Given the description of an element on the screen output the (x, y) to click on. 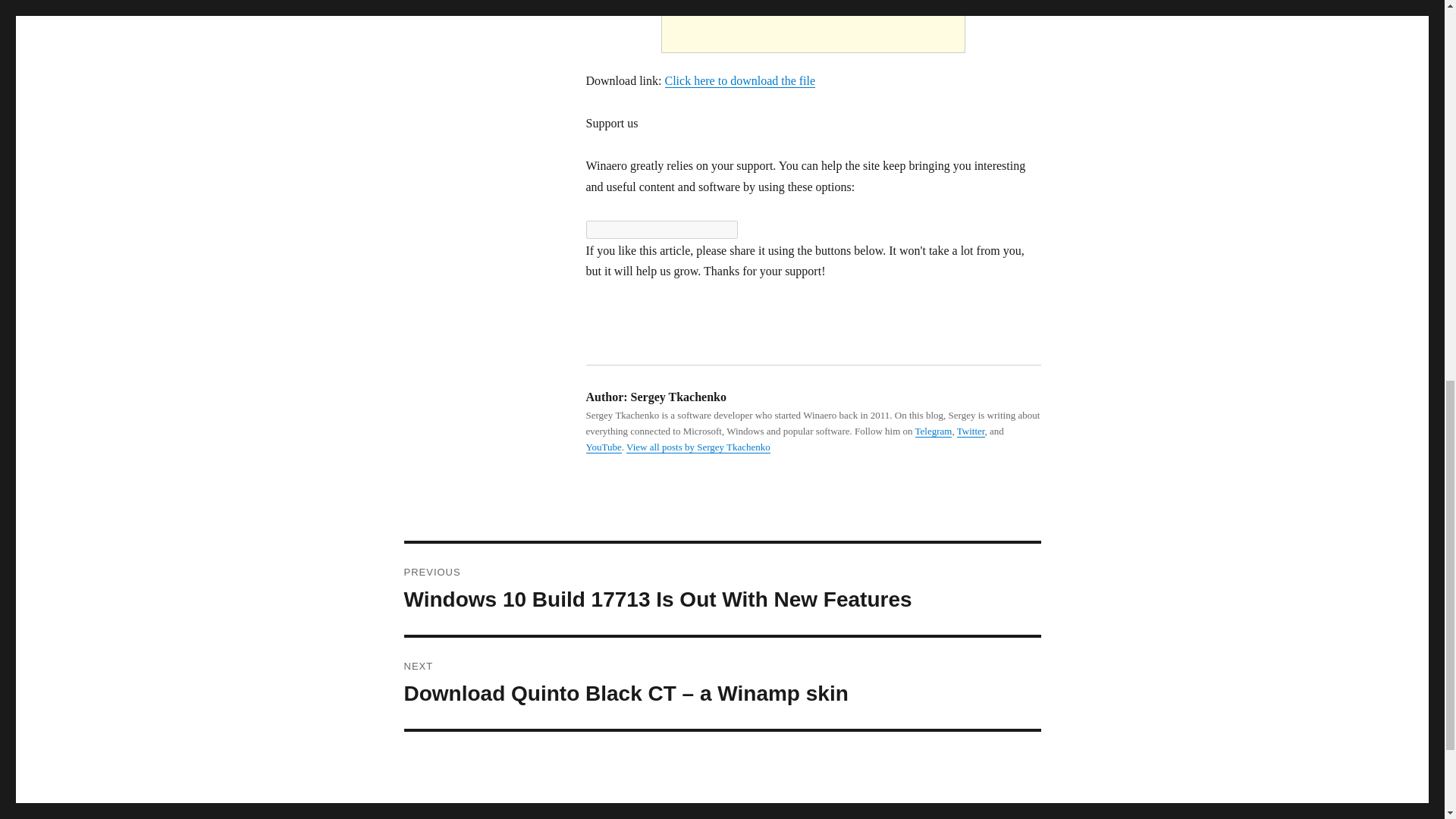
Click here to download the file (739, 80)
YouTube (603, 446)
View all posts by Sergey Tkachenko (698, 446)
Twitter (970, 430)
Telegram (933, 430)
PCRepair: Fix Windows issues. All of them. (812, 20)
